Given the description of an element on the screen output the (x, y) to click on. 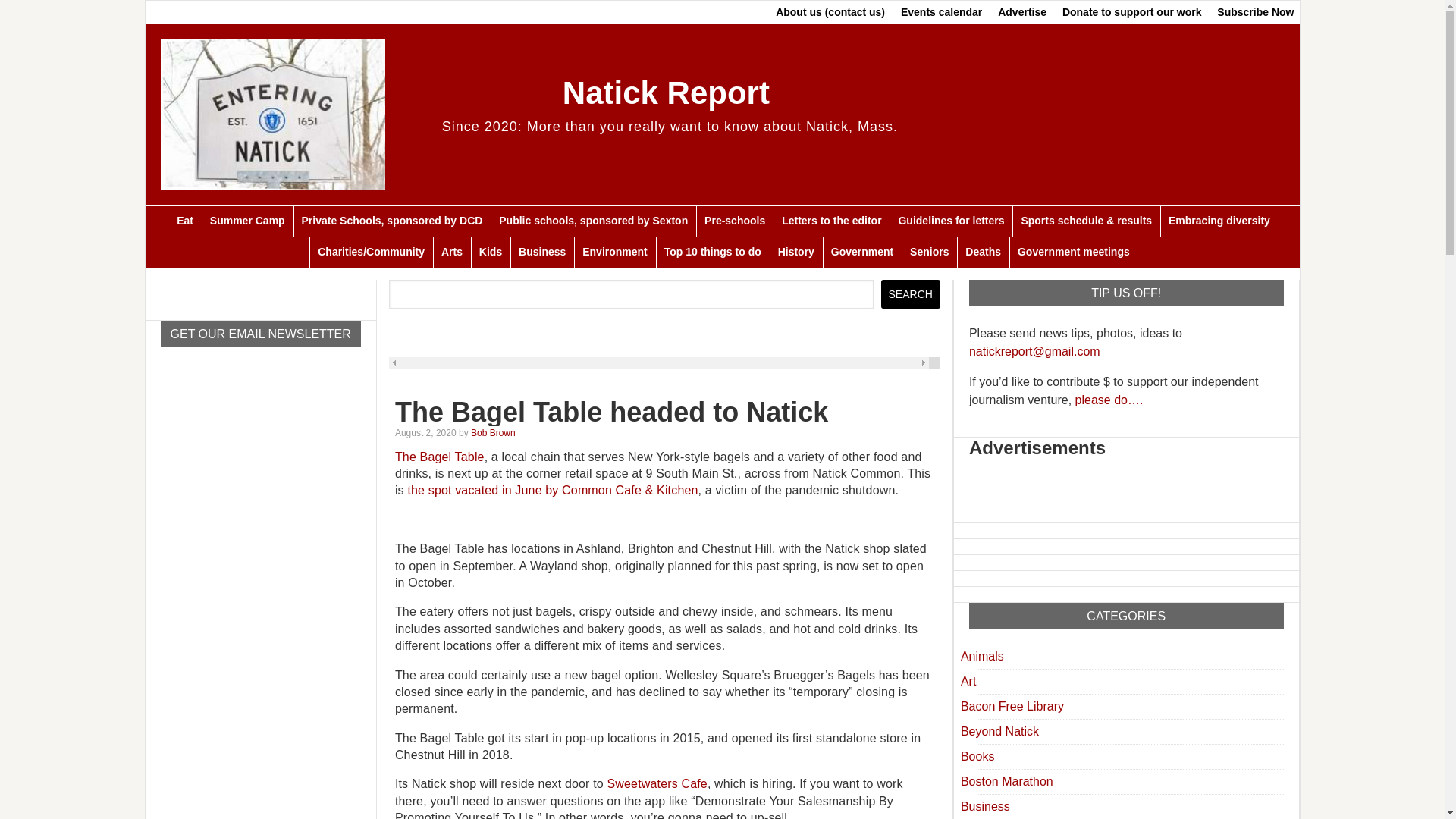
SEARCH (910, 294)
Government meetings (1073, 251)
Animals (982, 656)
History (796, 251)
Donate to support our work (1131, 12)
Events calendar (941, 12)
Pre-schools (734, 220)
Seniors (928, 251)
Business (542, 251)
Natick Report (666, 92)
